Given the description of an element on the screen output the (x, y) to click on. 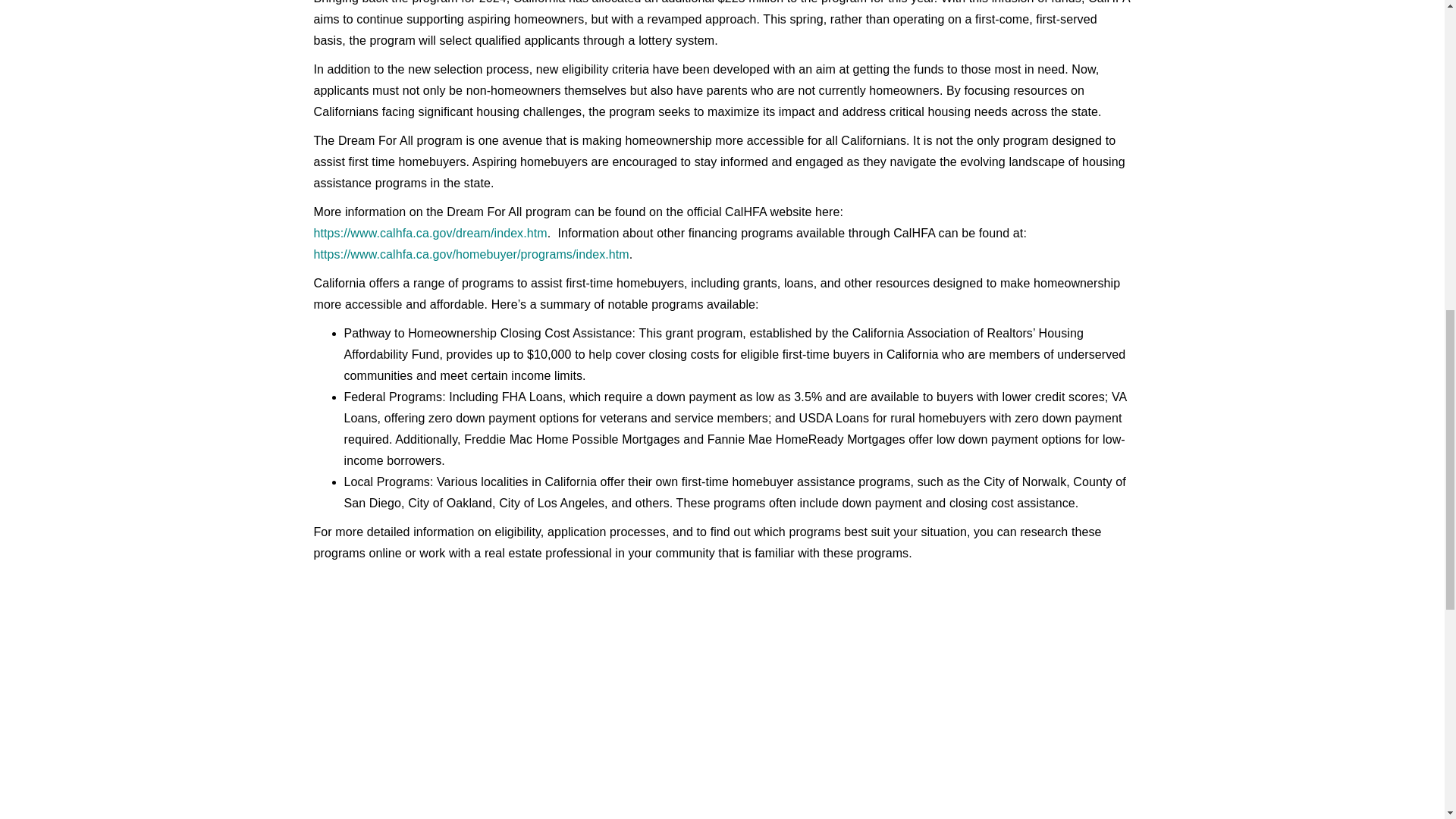
YouTube video player (721, 690)
